Given the description of an element on the screen output the (x, y) to click on. 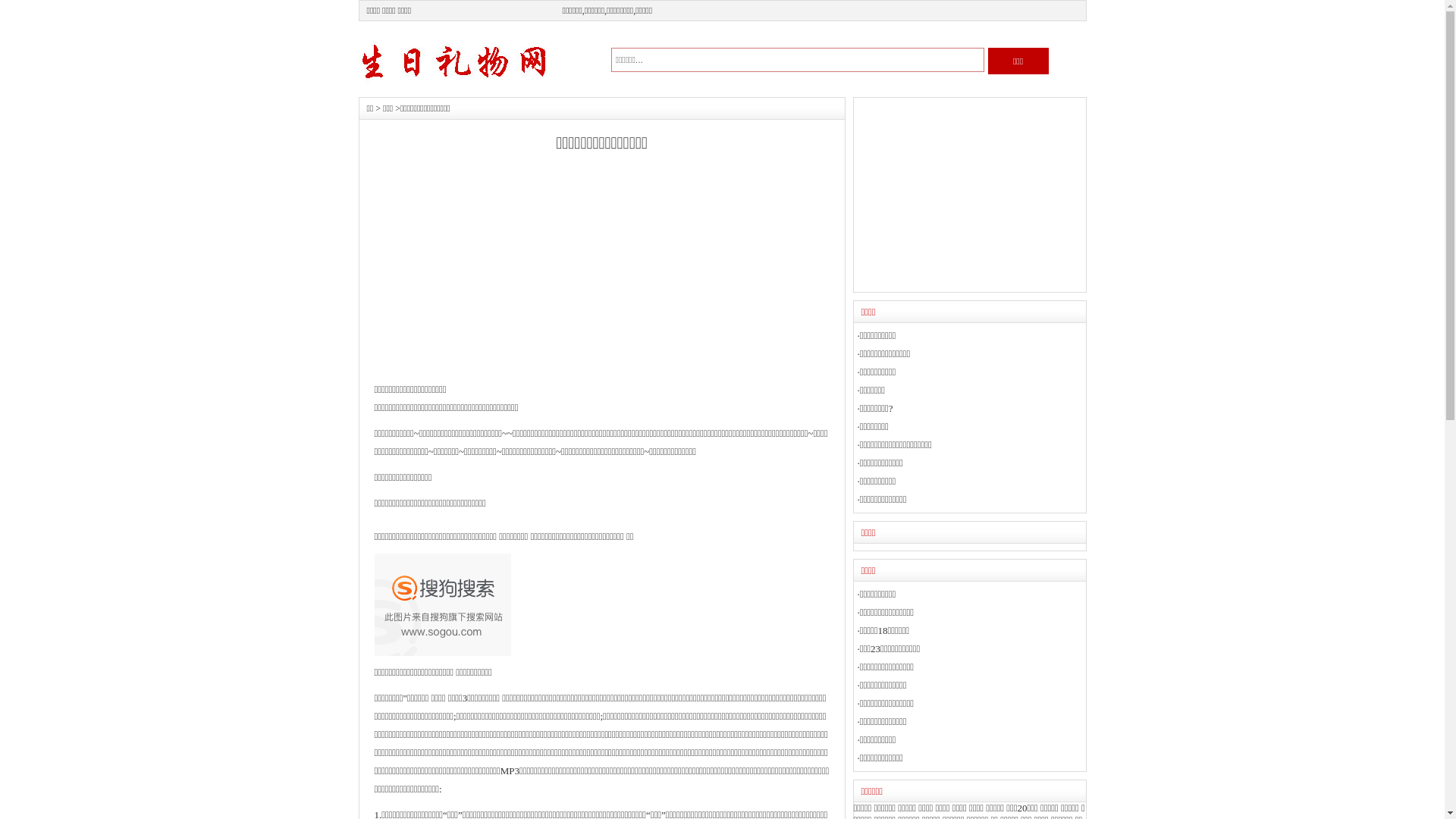
Advertisement Element type: hover (501, 274)
Advertisement Element type: hover (968, 194)
